Given the description of an element on the screen output the (x, y) to click on. 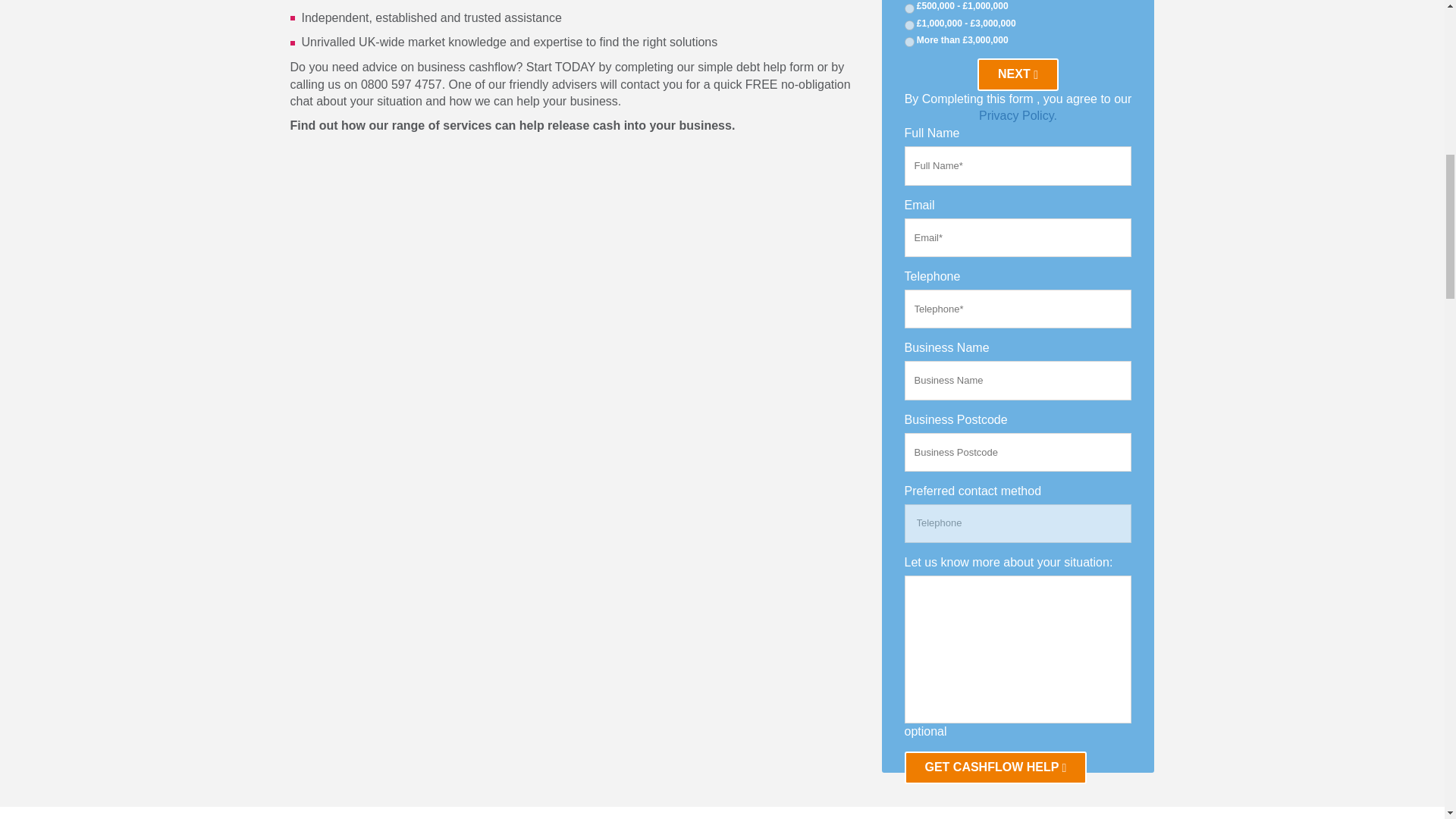
7 (909, 41)
5 (909, 8)
6 (909, 25)
